Given the description of an element on the screen output the (x, y) to click on. 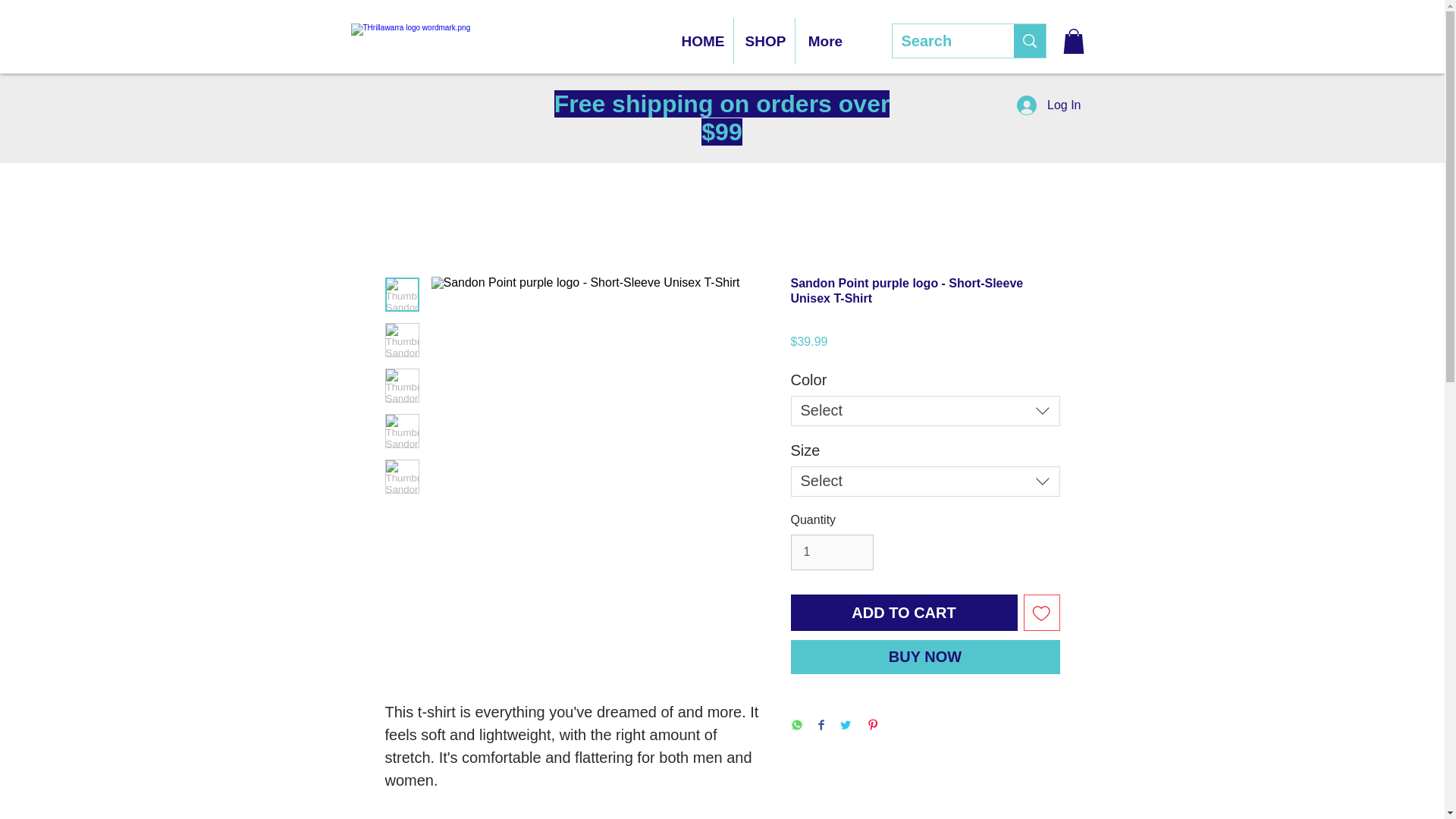
1 (831, 551)
ADD TO CART (903, 612)
HOME (701, 41)
Select (924, 410)
Select (924, 481)
BUY NOW (924, 656)
SHOP (763, 41)
Log In (1048, 104)
